Given the description of an element on the screen output the (x, y) to click on. 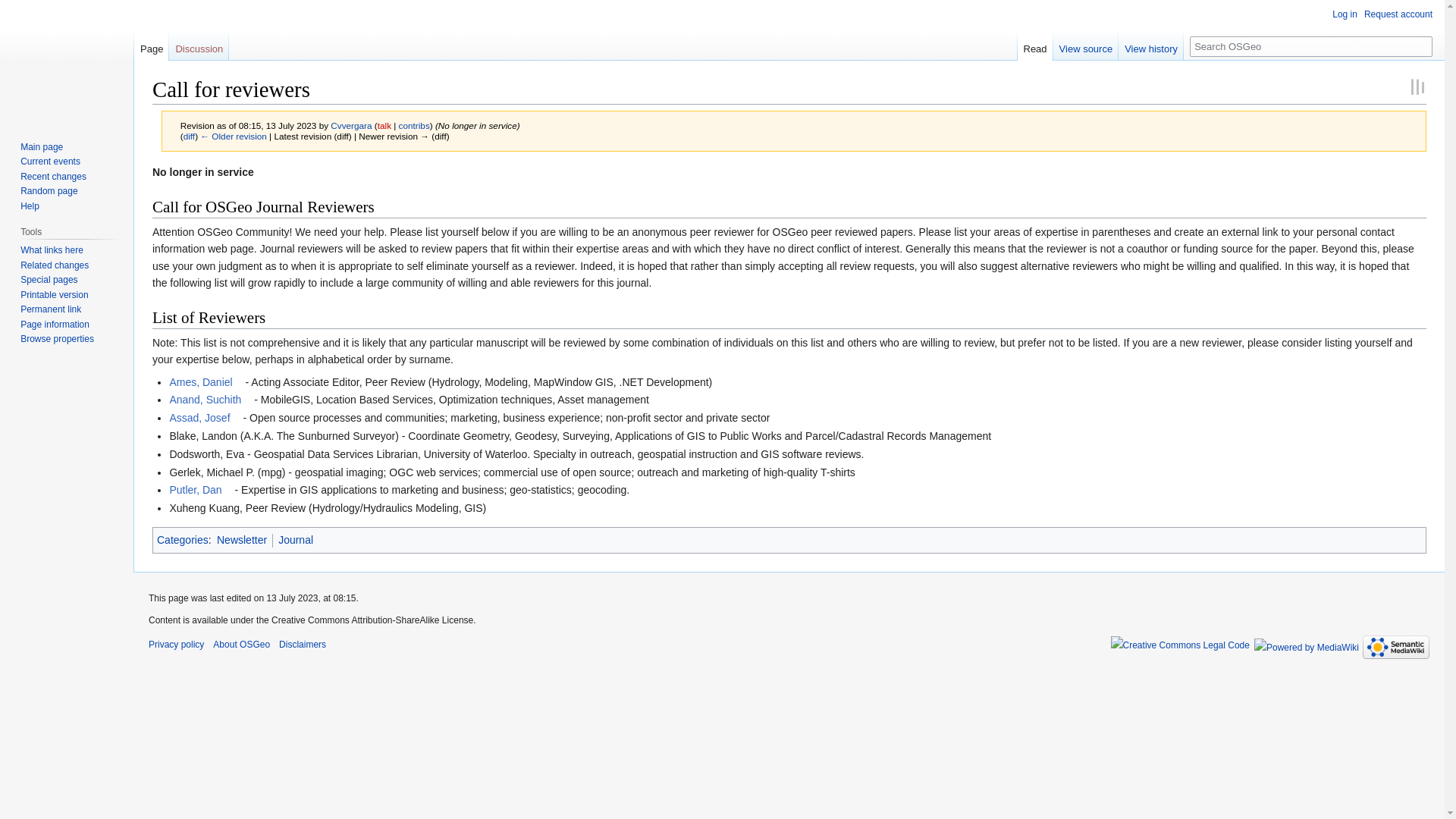
Request account (1398, 14)
Category:Journal (295, 539)
Assad, Josef (204, 417)
Cvvergara (350, 125)
What links here (51, 249)
View history (1150, 45)
Search the pages for this text (1422, 46)
Go (1422, 46)
Privacy policy (175, 644)
Random page (48, 190)
